Given the description of an element on the screen output the (x, y) to click on. 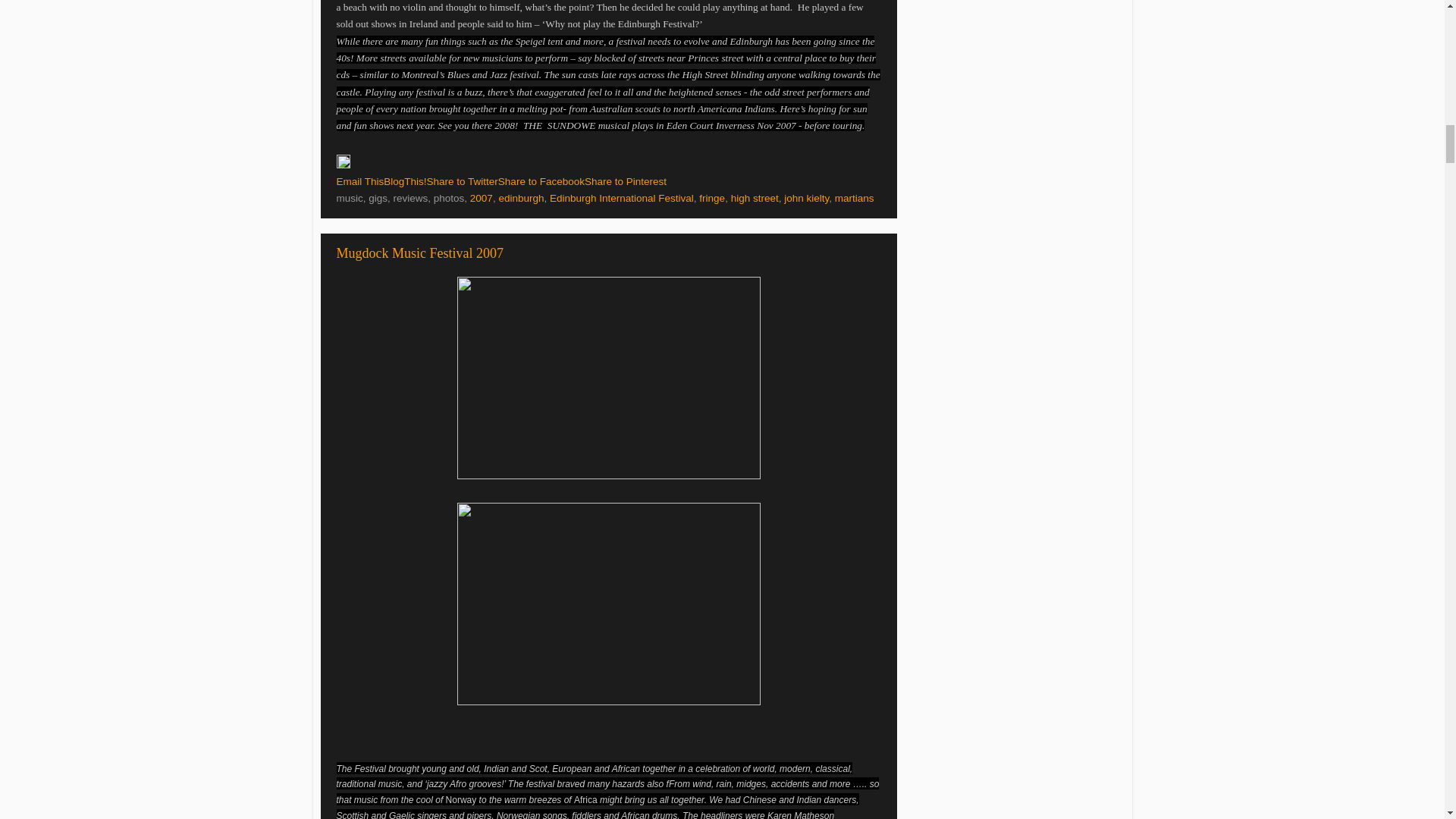
Share to Twitter (461, 181)
BlogThis! (405, 181)
Share to Pinterest (625, 181)
Share to Facebook (541, 181)
Email This (360, 181)
Edit Post (343, 164)
BlogThis! (405, 181)
Email This (360, 181)
Share to Twitter (461, 181)
